Given the description of an element on the screen output the (x, y) to click on. 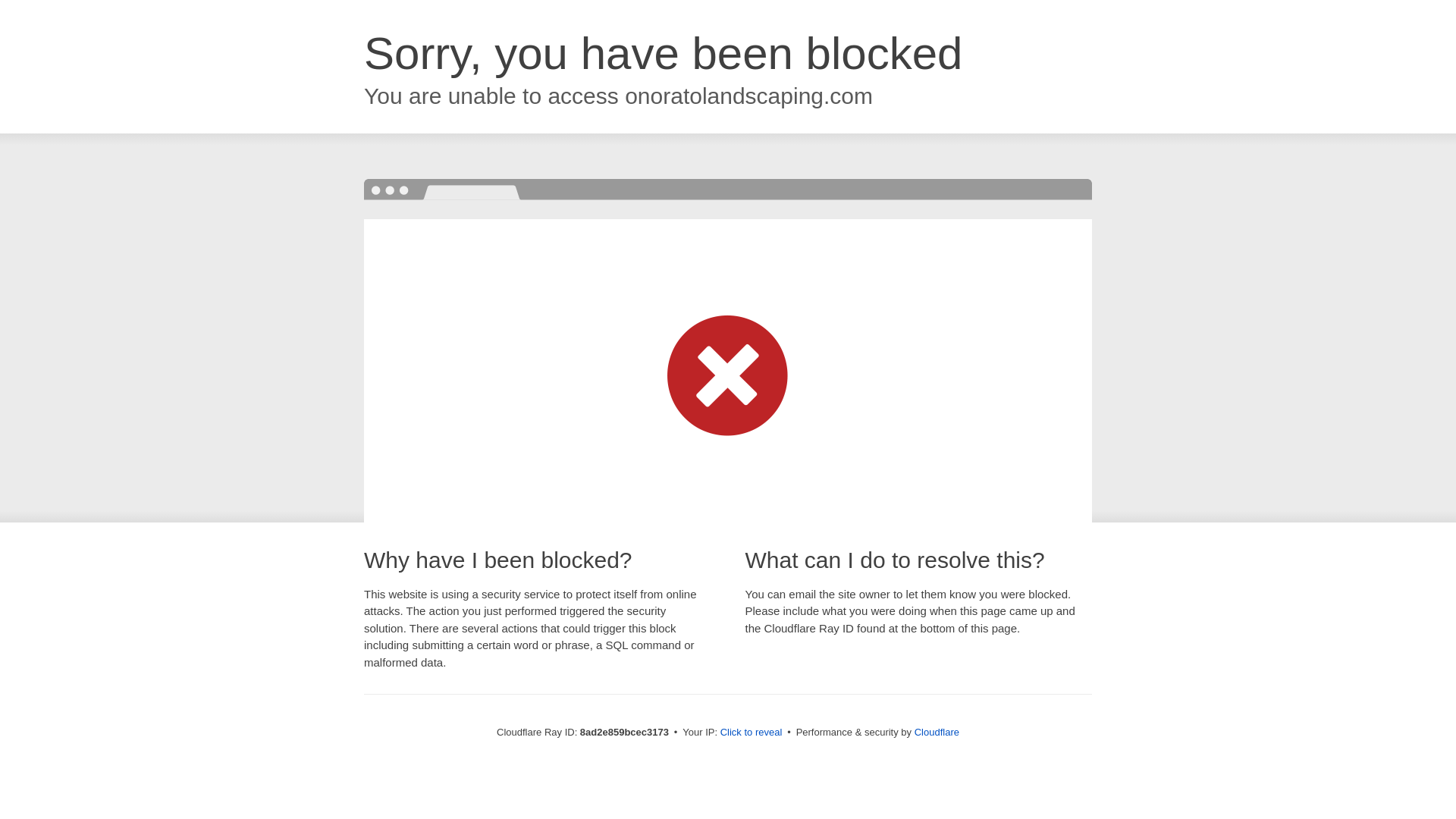
Click to reveal (751, 732)
Cloudflare (936, 731)
